Given the description of an element on the screen output the (x, y) to click on. 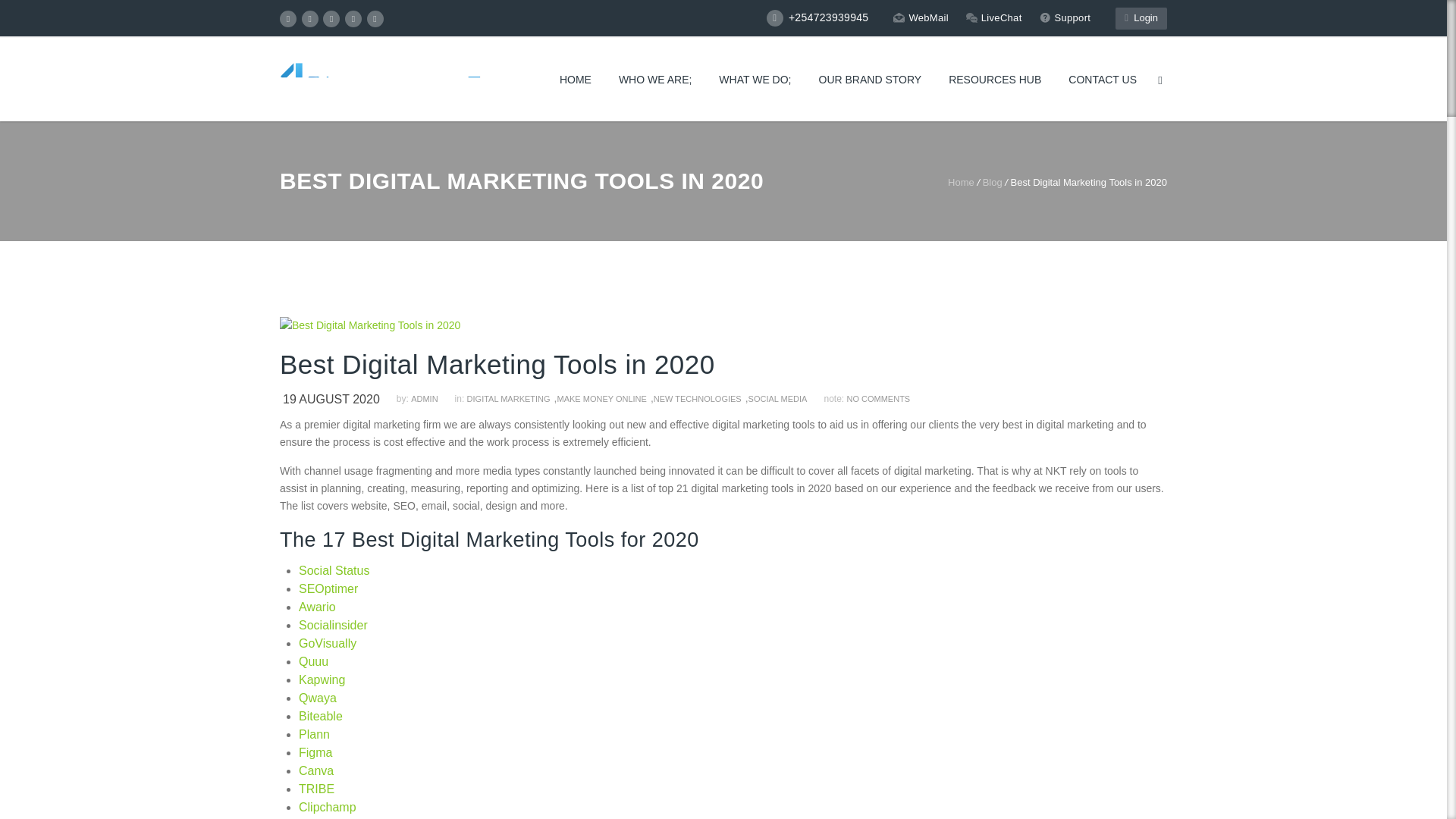
Support (1064, 17)
OUR BRAND STORY (870, 79)
LiveChat (994, 17)
HOME (575, 79)
Click to leave a comment (877, 398)
  Login (1141, 18)
View all posts by admin (430, 398)
WHAT WE DO; (754, 79)
WHO WE ARE; (654, 79)
RESOURCES HUB (994, 79)
